Given the description of an element on the screen output the (x, y) to click on. 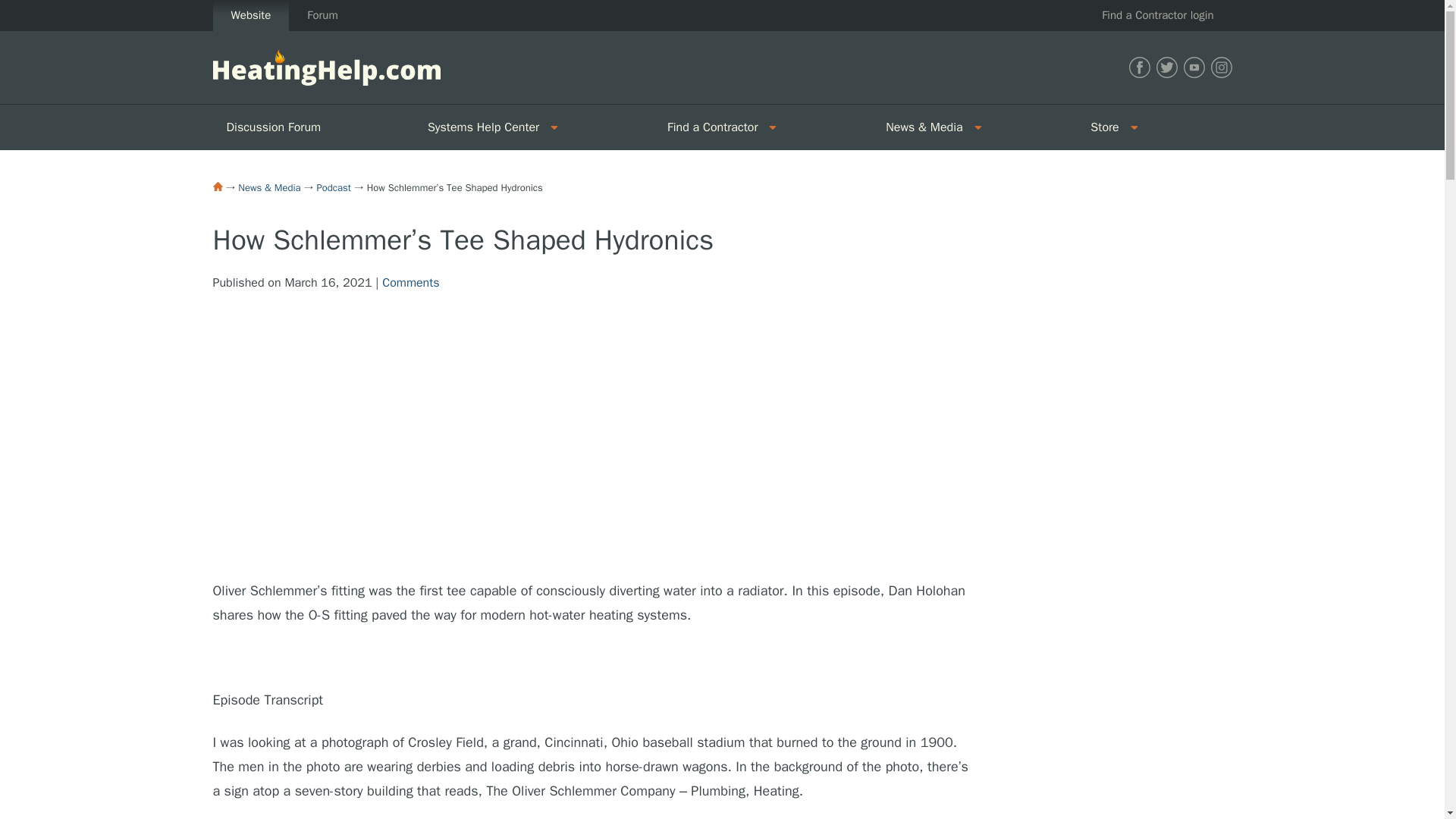
Home (217, 185)
Find a Contractor login (1157, 15)
Website (250, 15)
Find Heating Help on Facebook (1139, 66)
Find Heating Help on Twitter (1166, 66)
Find Heating Help on Youtube (1193, 66)
Forum (321, 15)
Skip to Content (40, 9)
Systems Help Center (478, 126)
Discussion Forum (312, 126)
Find Heating Help on Instagram (1220, 66)
